Given the description of an element on the screen output the (x, y) to click on. 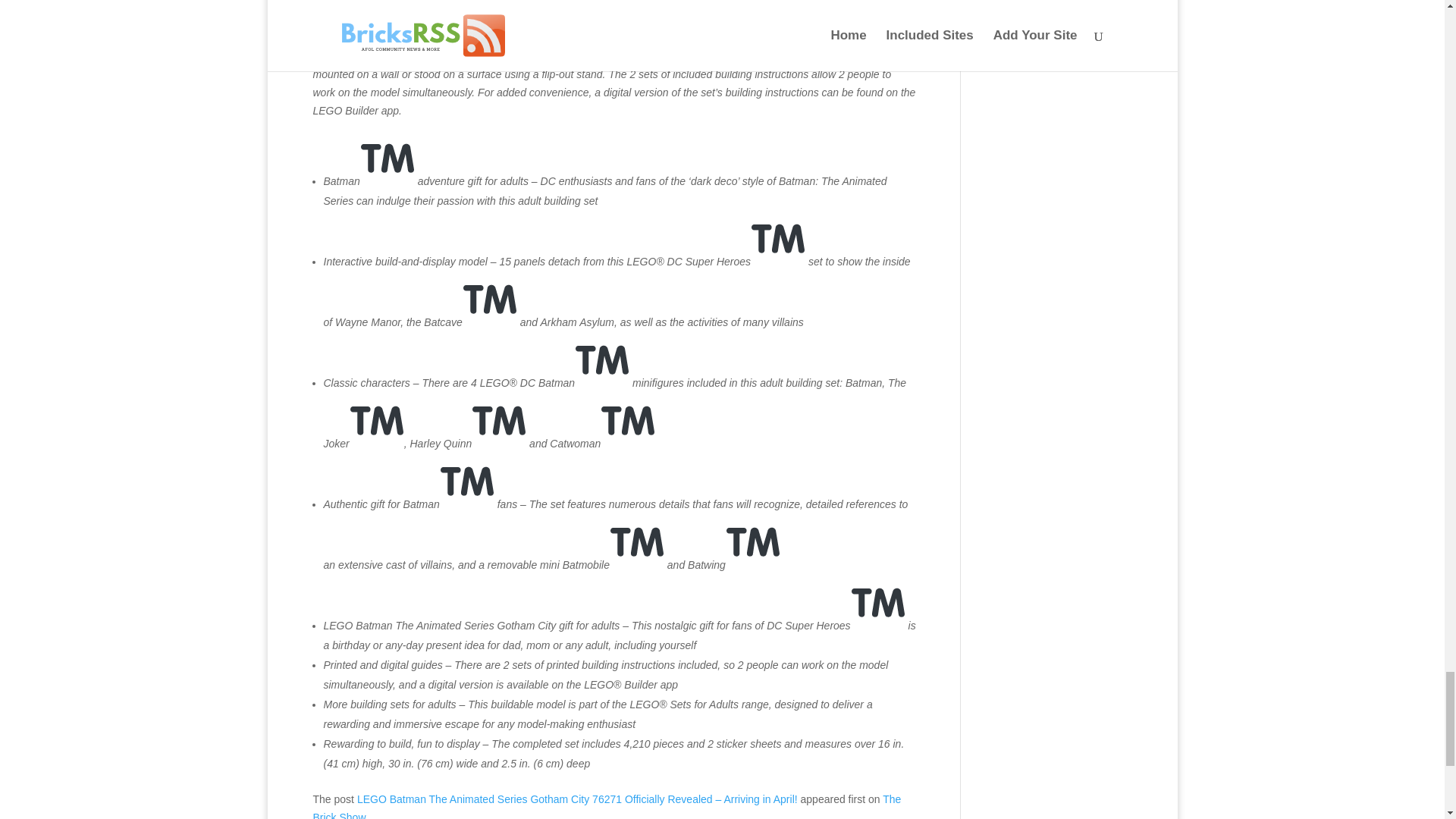
The Brick Show (607, 806)
